Given the description of an element on the screen output the (x, y) to click on. 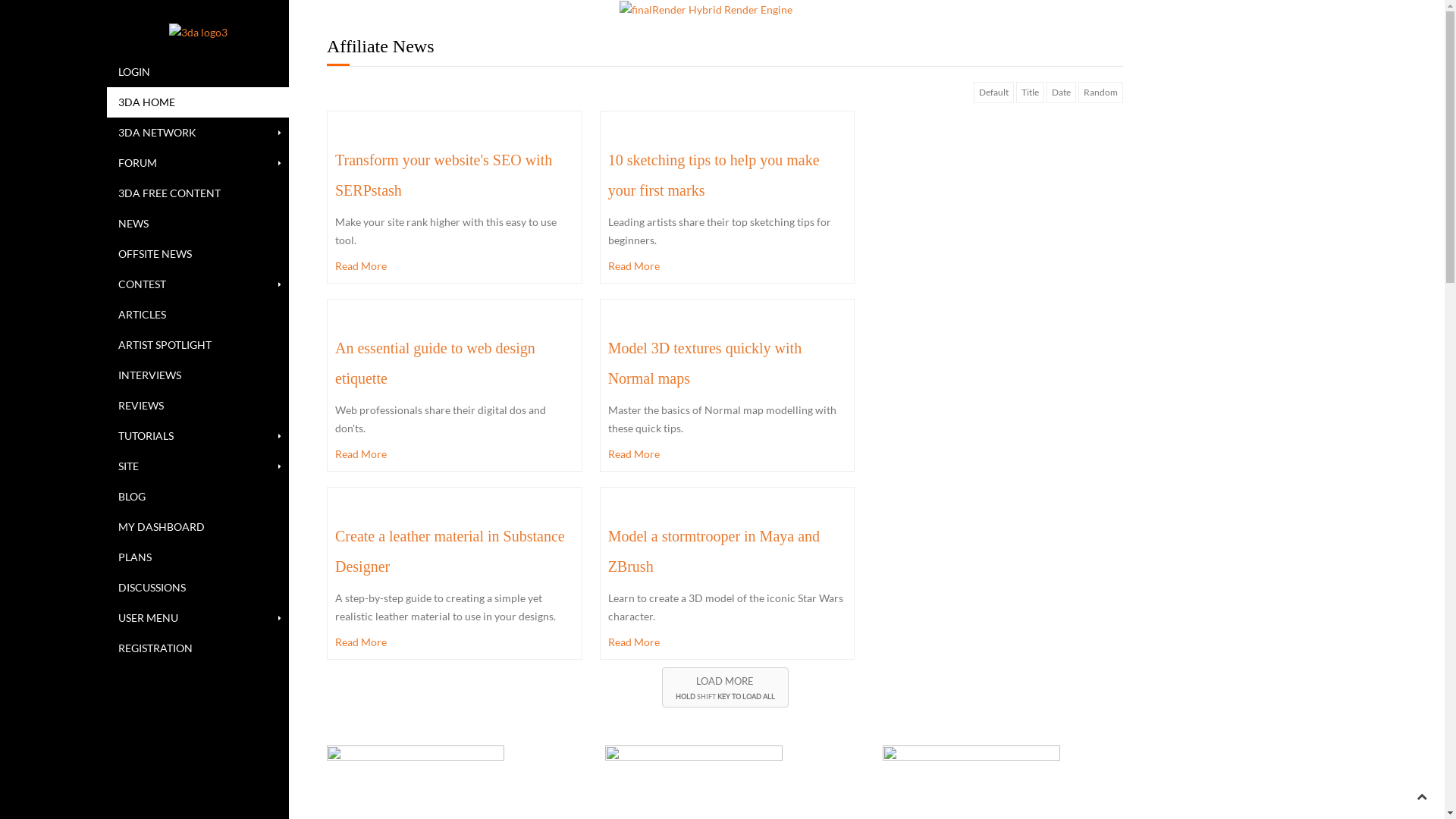
ARTICLES Element type: text (197, 314)
An essential guide to web design etiquette Element type: text (435, 362)
ARTIST SPOTLIGHT Element type: text (197, 344)
Read More Element type: text (454, 454)
NEWS Element type: text (197, 223)
10 sketching tips to help you make your first marks Element type: text (713, 174)
DISCUSSIONS Element type: text (197, 587)
3DA NETWORK Element type: text (197, 132)
TUTORIALS Element type: text (197, 435)
INTERVIEWS Element type: text (197, 375)
Model 3D textures quickly with Normal maps Element type: text (705, 362)
Read More Element type: text (727, 642)
PLANS Element type: text (197, 557)
LOGIN Element type: text (197, 71)
3DA HOME Element type: text (197, 102)
Create a leather material in Substance Designer Element type: text (449, 550)
OFFSITE NEWS Element type: text (197, 253)
FORUM Element type: text (197, 162)
REGISTRATION Element type: text (197, 648)
Model a stormtrooper in Maya and ZBrush Element type: text (713, 550)
3DA FREE CONTENT Element type: text (197, 193)
Read More Element type: text (454, 266)
REVIEWS Element type: text (197, 405)
MY DASHBOARD Element type: text (197, 526)
SITE Element type: text (197, 466)
finalRender Hybrid Render Engine Element type: hover (705, 9)
Read More Element type: text (727, 454)
Read More Element type: text (454, 642)
Read More Element type: text (727, 266)
USER MENU Element type: text (197, 617)
BLOG Element type: text (197, 496)
Transform your website's SEO with SERPstash Element type: text (443, 174)
CONTEST Element type: text (197, 284)
